Given the description of an element on the screen output the (x, y) to click on. 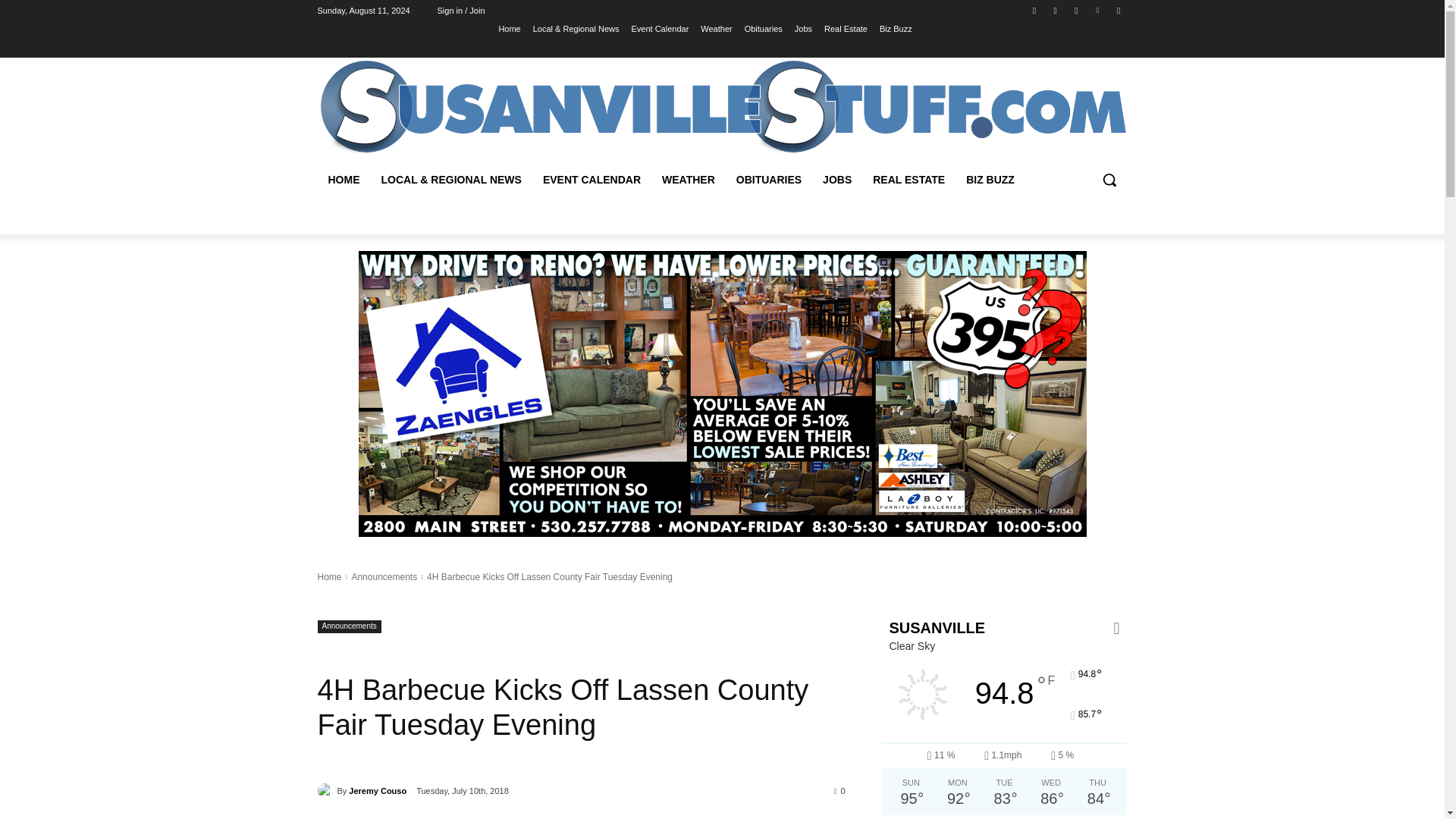
Event Calendar (659, 28)
Home (508, 28)
BIZ BUZZ (990, 179)
Vimeo (1097, 9)
Biz Buzz (895, 28)
Twitter (1075, 9)
JOBS (836, 179)
REAL ESTATE (908, 179)
HOME (343, 179)
header1920 (721, 107)
